Given the description of an element on the screen output the (x, y) to click on. 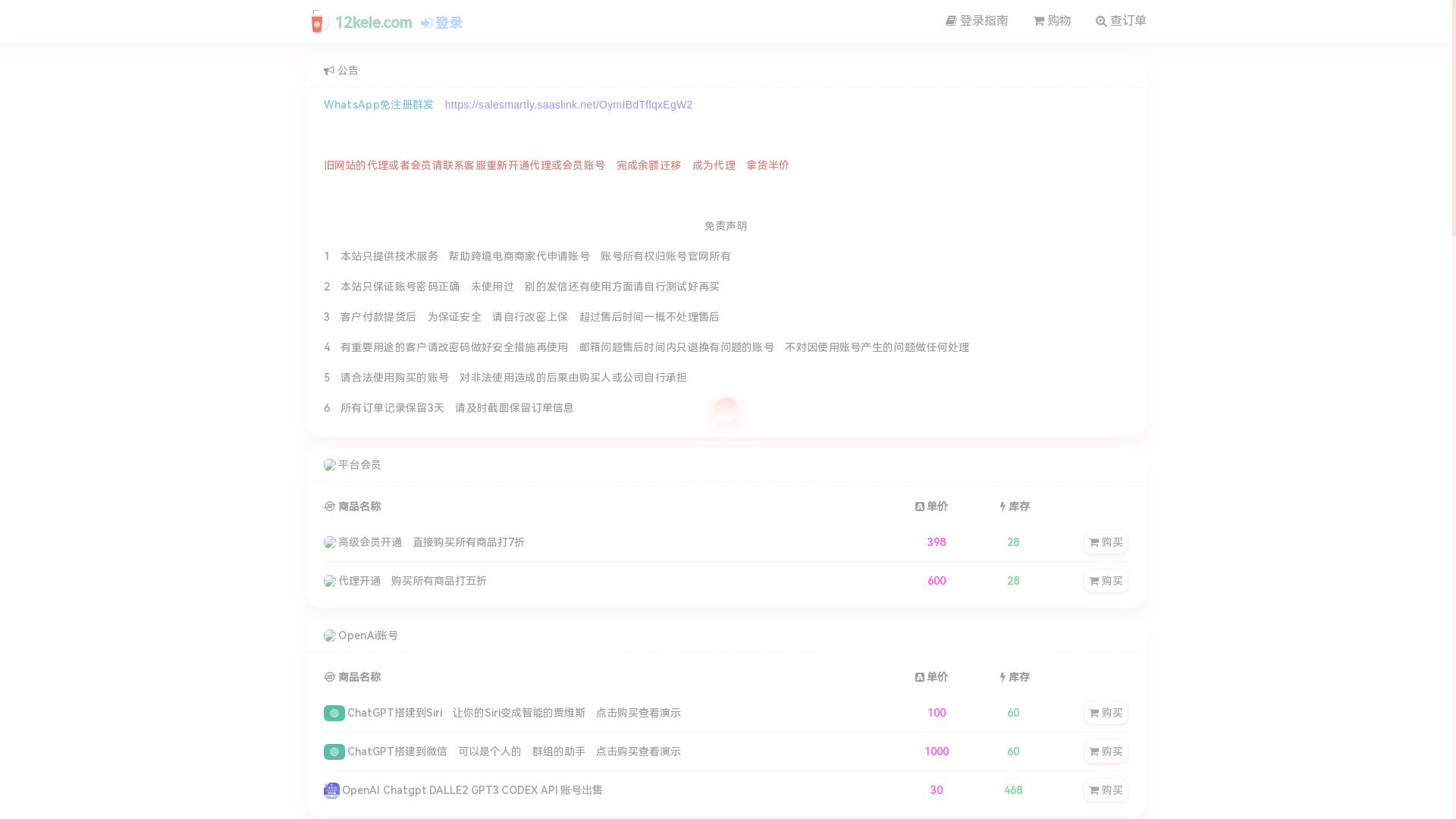
12kele.com Element type: text (358, 19)
https://salesmartly.saaslink.net/OymIBdTflqxEgW2 Element type: text (569, 104)
